Given the description of an element on the screen output the (x, y) to click on. 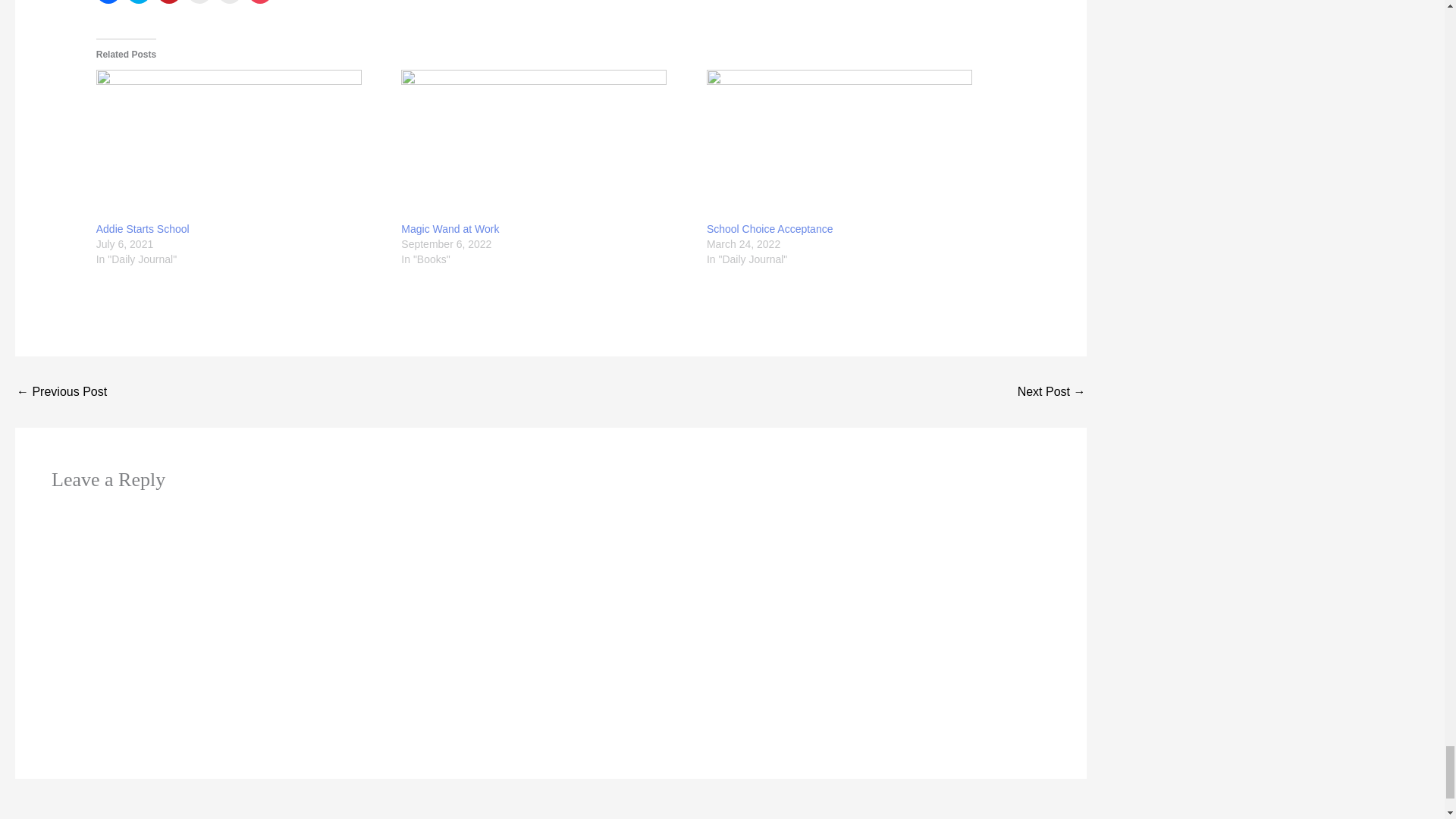
School Choice Acceptance (769, 228)
Click to share on Facebook (108, 2)
Click to email a link to a friend (199, 2)
Magic Wand at Work (546, 145)
Click to share on Pinterest (168, 2)
Addie Starts School (142, 228)
Addie Starts School (142, 228)
Addie Starts School (241, 145)
Click to share on Twitter (138, 2)
Magic Wand at Work (450, 228)
Magic Wand at Work (450, 228)
Click to print (228, 2)
Click to share on Pocket (259, 2)
School Choice Acceptance (851, 145)
